Given the description of an element on the screen output the (x, y) to click on. 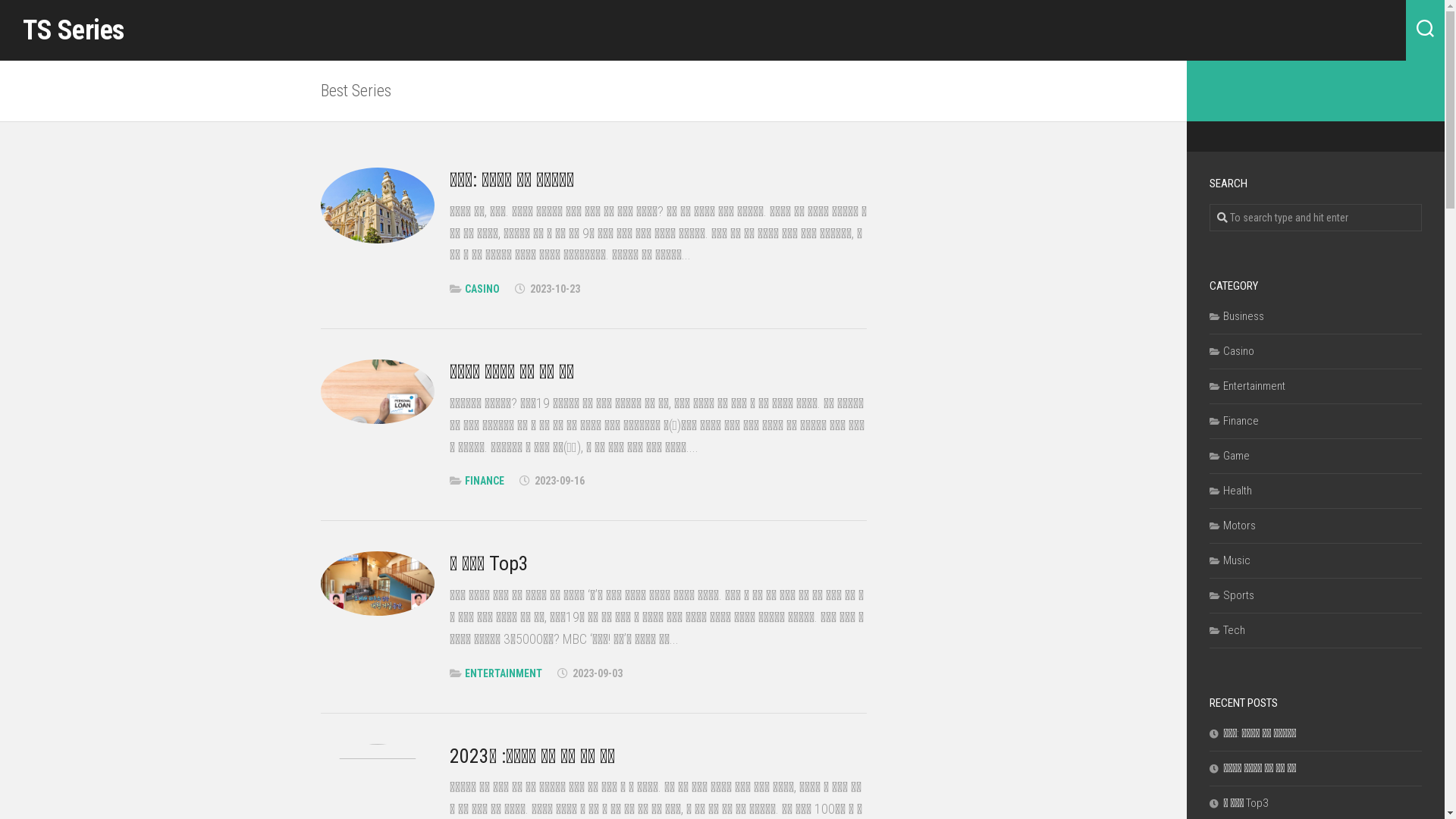
Business Element type: text (1236, 316)
Game Element type: text (1229, 455)
Music Element type: text (1229, 560)
Health Element type: text (1230, 490)
CASINO Element type: text (481, 288)
ENTERTAINMENT Element type: text (502, 673)
Finance Element type: text (1233, 420)
Tech Element type: text (1227, 630)
Casino Element type: text (1231, 350)
Motors Element type: text (1232, 525)
Entertainment Element type: text (1247, 385)
FINANCE Element type: text (483, 480)
TS Series Element type: text (73, 30)
Sports Element type: text (1231, 595)
